Given the description of an element on the screen output the (x, y) to click on. 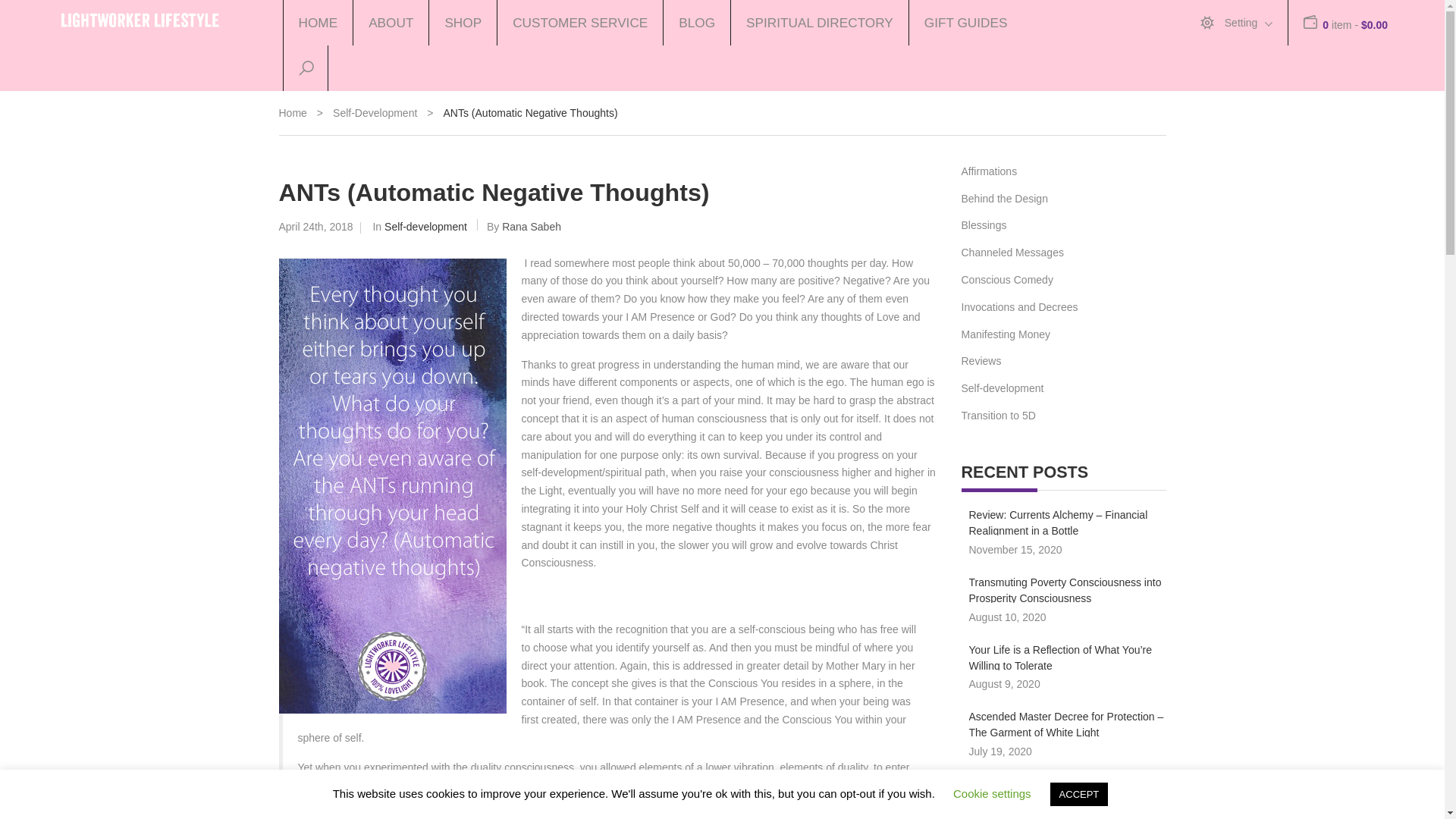
Self-development (374, 113)
ABOUT (390, 22)
Home (293, 113)
CUSTOMER SERVICE (579, 22)
HOME (317, 22)
SPIRITUAL DIRECTORY (819, 22)
SHOP (462, 22)
Home (293, 113)
GIFT GUIDES (965, 22)
My setting (1240, 22)
